Given the description of an element on the screen output the (x, y) to click on. 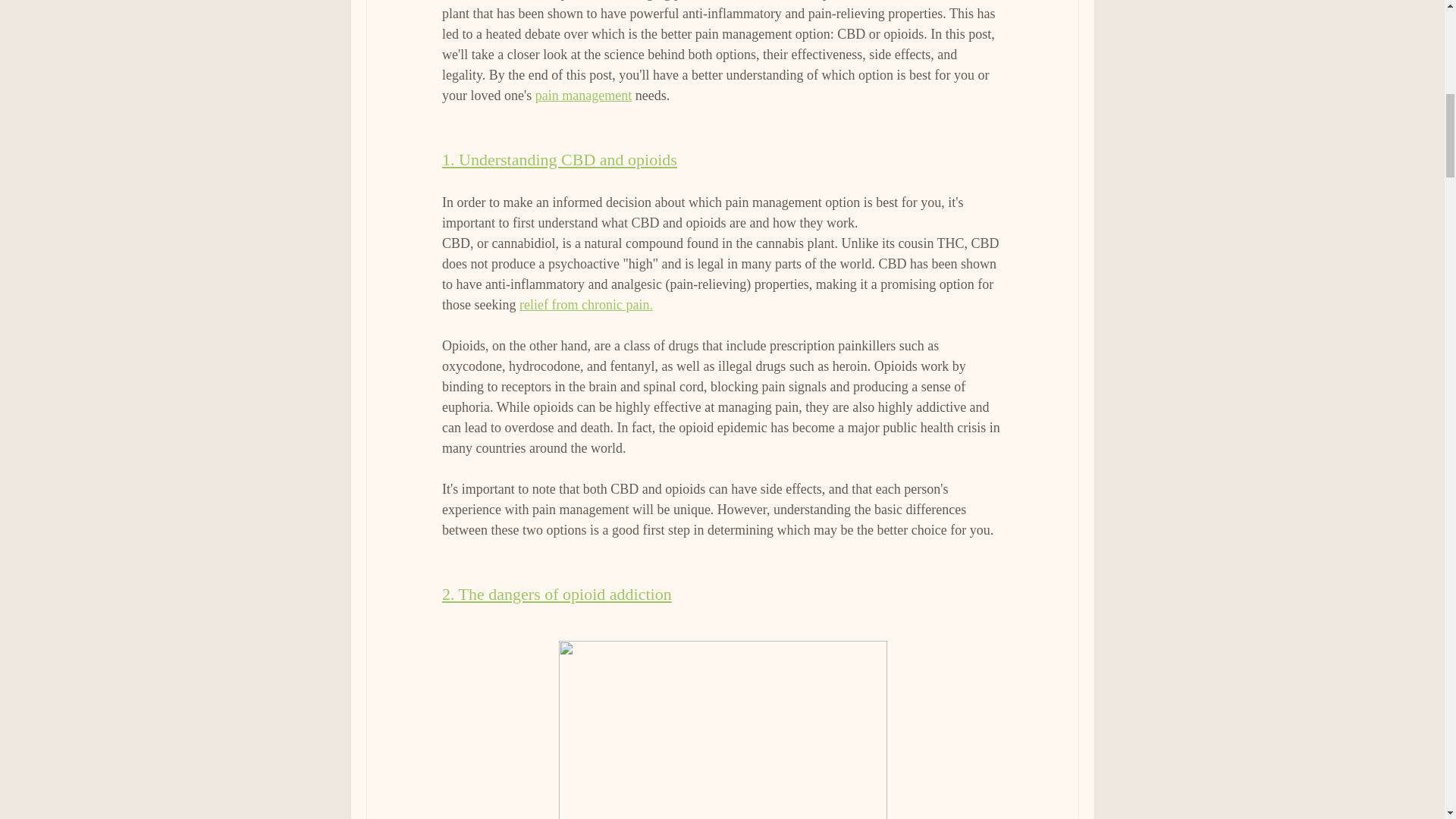
relief from chronic pain. (585, 304)
1. Understanding CBD and opioids (559, 158)
2. The dangers of opioid addiction (556, 593)
pain management (582, 95)
